Given the description of an element on the screen output the (x, y) to click on. 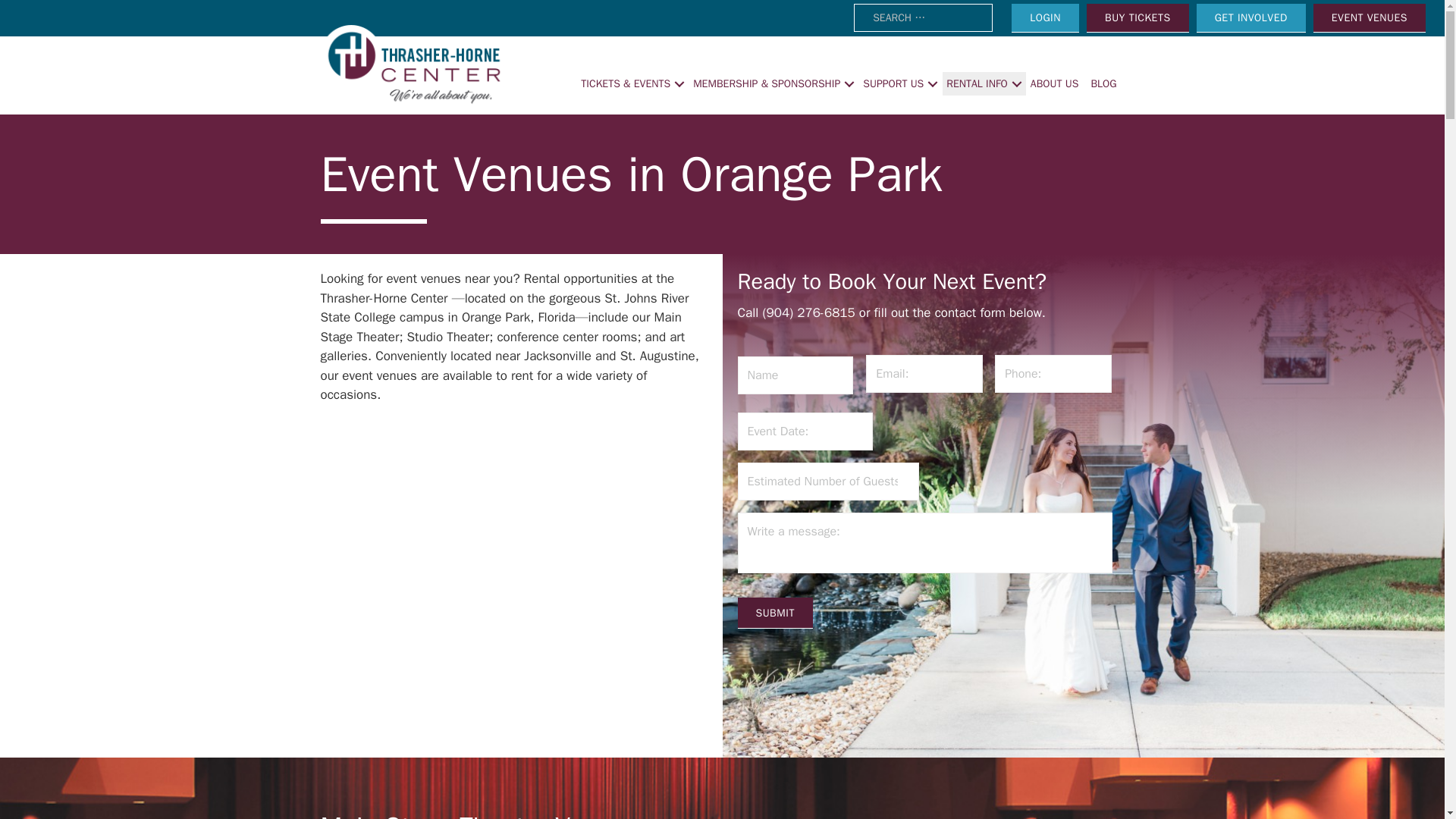
Search for: (922, 17)
ABOUT US (1056, 83)
BLOG (1105, 83)
Main Stage Theater Venue (473, 814)
EVENT VENUES (1369, 18)
BUY TICKETS (1137, 18)
LOGIN (1044, 18)
SUPPORT US (900, 83)
Submit (774, 612)
RENTAL INFO (984, 83)
